Given the description of an element on the screen output the (x, y) to click on. 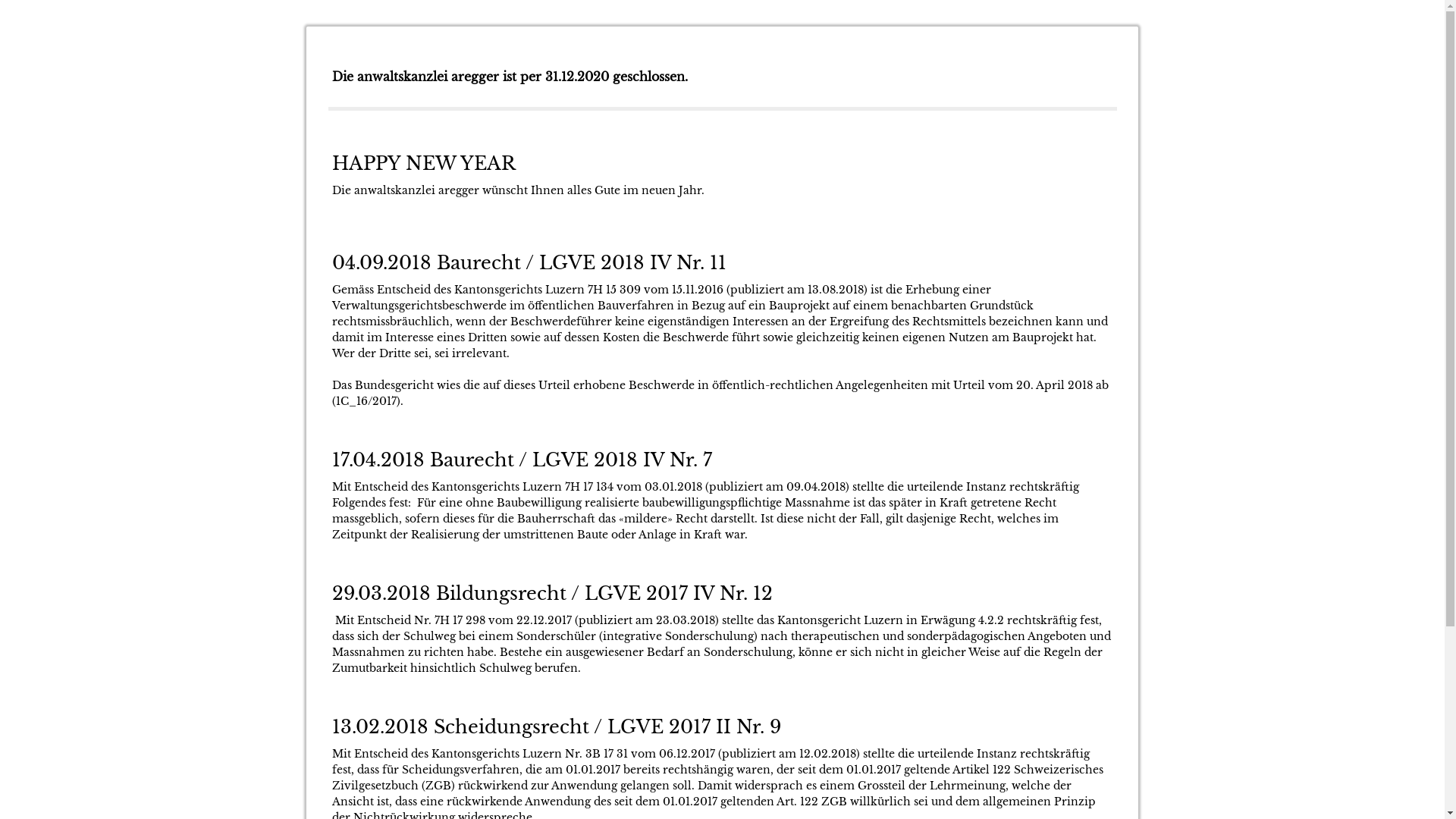
Die anwaltskanzlei aregger ist per 31.12.2020 geschlossen. Element type: text (509, 76)
